Given the description of an element on the screen output the (x, y) to click on. 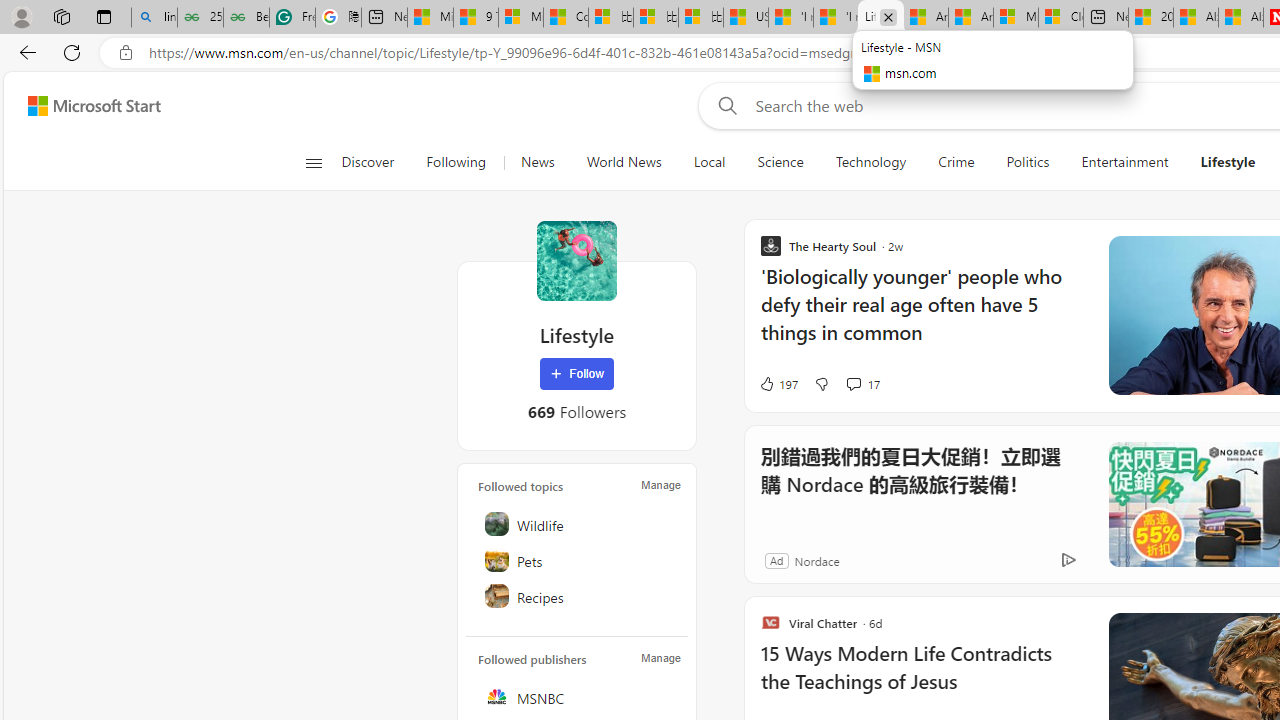
Politics (1027, 162)
Crime (956, 162)
Entertainment (1124, 162)
Open navigation menu (313, 162)
Skip to footer (82, 105)
197 Like (778, 384)
Wildlife (578, 524)
News (537, 162)
Lifestyle (1227, 162)
Skip to content (86, 105)
Recipes (578, 596)
